Given the description of an element on the screen output the (x, y) to click on. 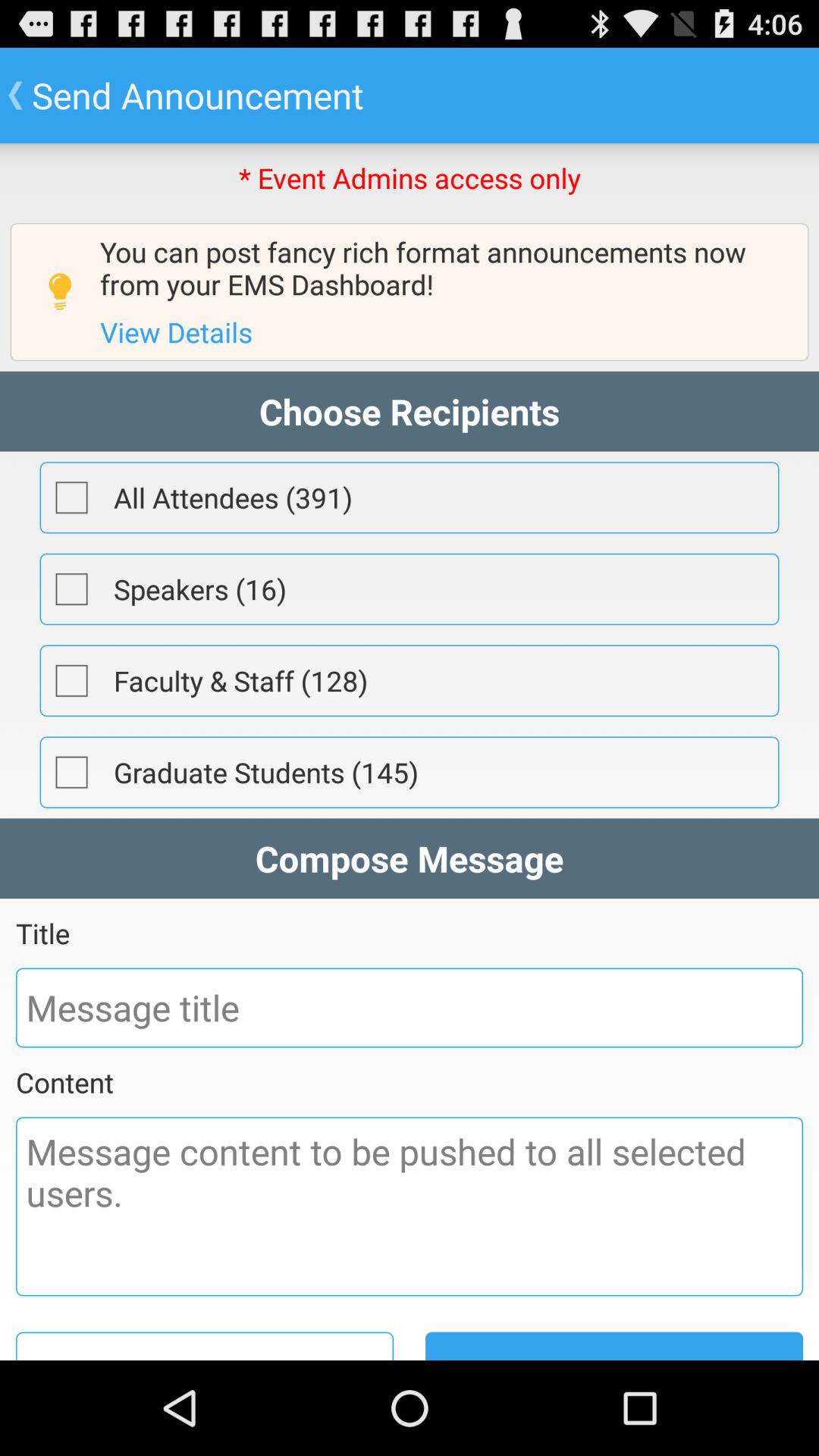
check mark this box (71, 772)
